Given the description of an element on the screen output the (x, y) to click on. 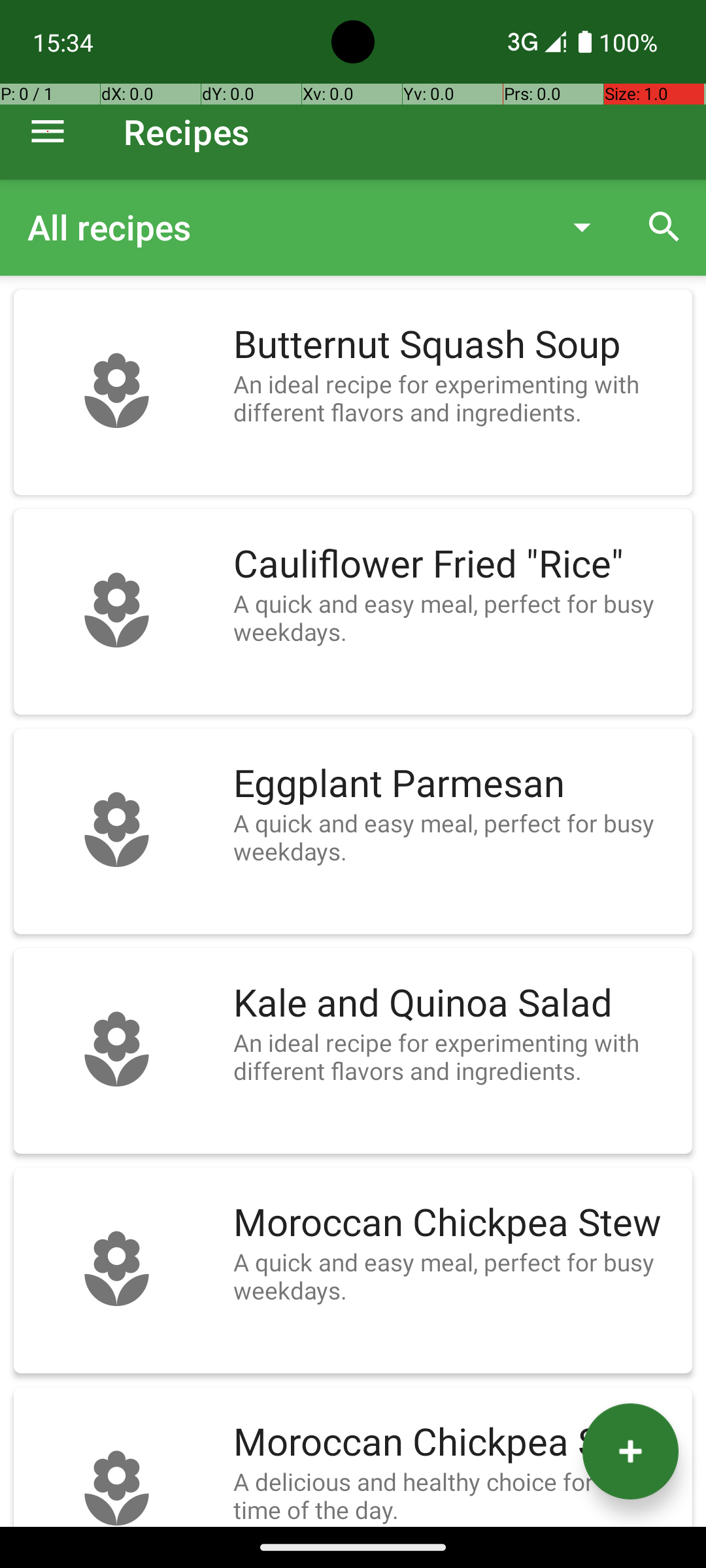
Eggplant Parmesan Element type: android.widget.TextView (455, 783)
Kale and Quinoa Salad Element type: android.widget.TextView (455, 1003)
Moroccan Chickpea Stew Element type: android.widget.TextView (455, 1222)
